Given the description of an element on the screen output the (x, y) to click on. 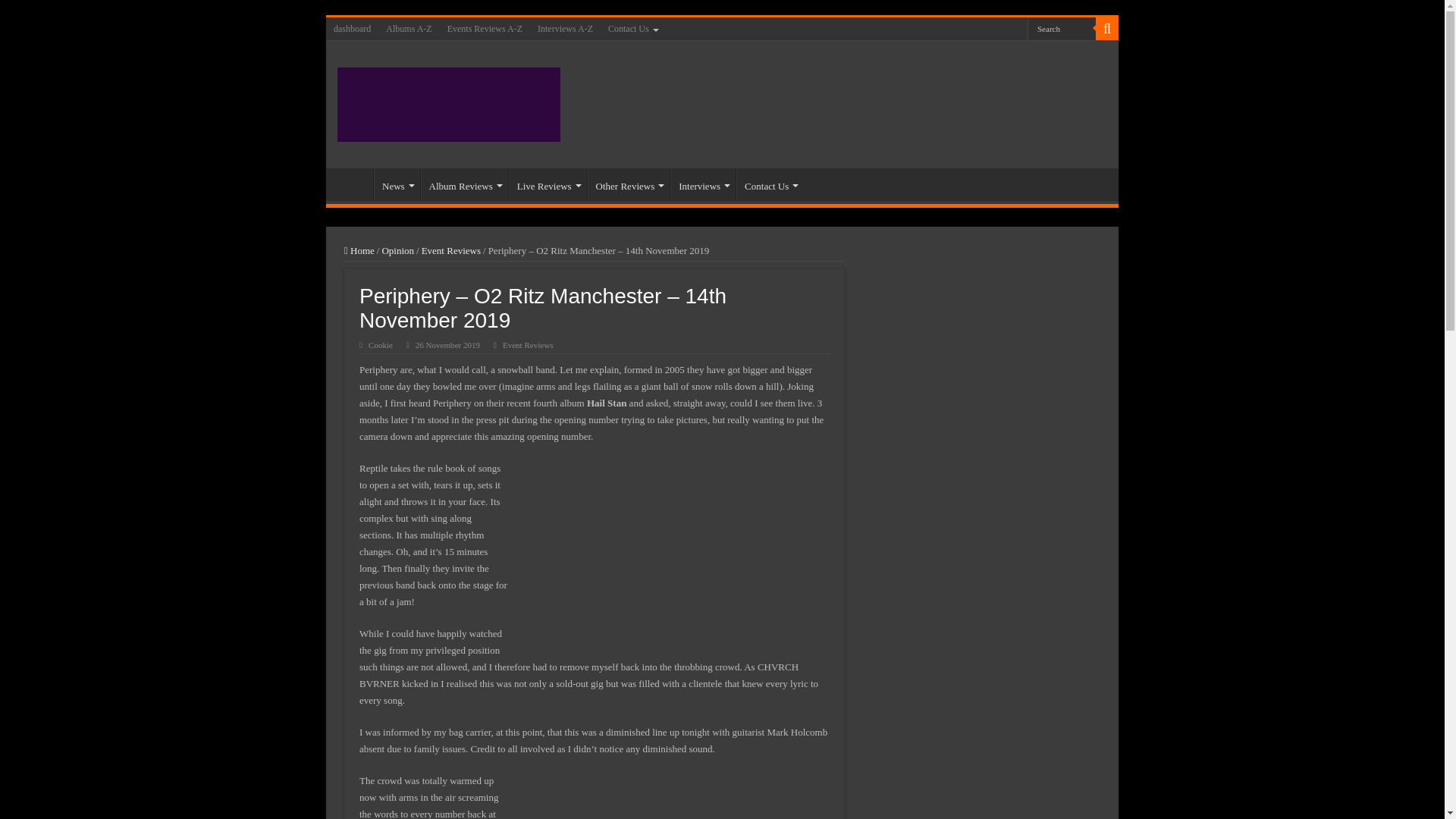
Interviews A-Z (564, 28)
Other Reviews (628, 183)
dashboard (352, 28)
Search (1061, 28)
Search (1107, 28)
News (397, 183)
PlanetMosh (448, 101)
Album Reviews (464, 183)
Home (352, 183)
Events Reviews A-Z (484, 28)
